Given the description of an element on the screen output the (x, y) to click on. 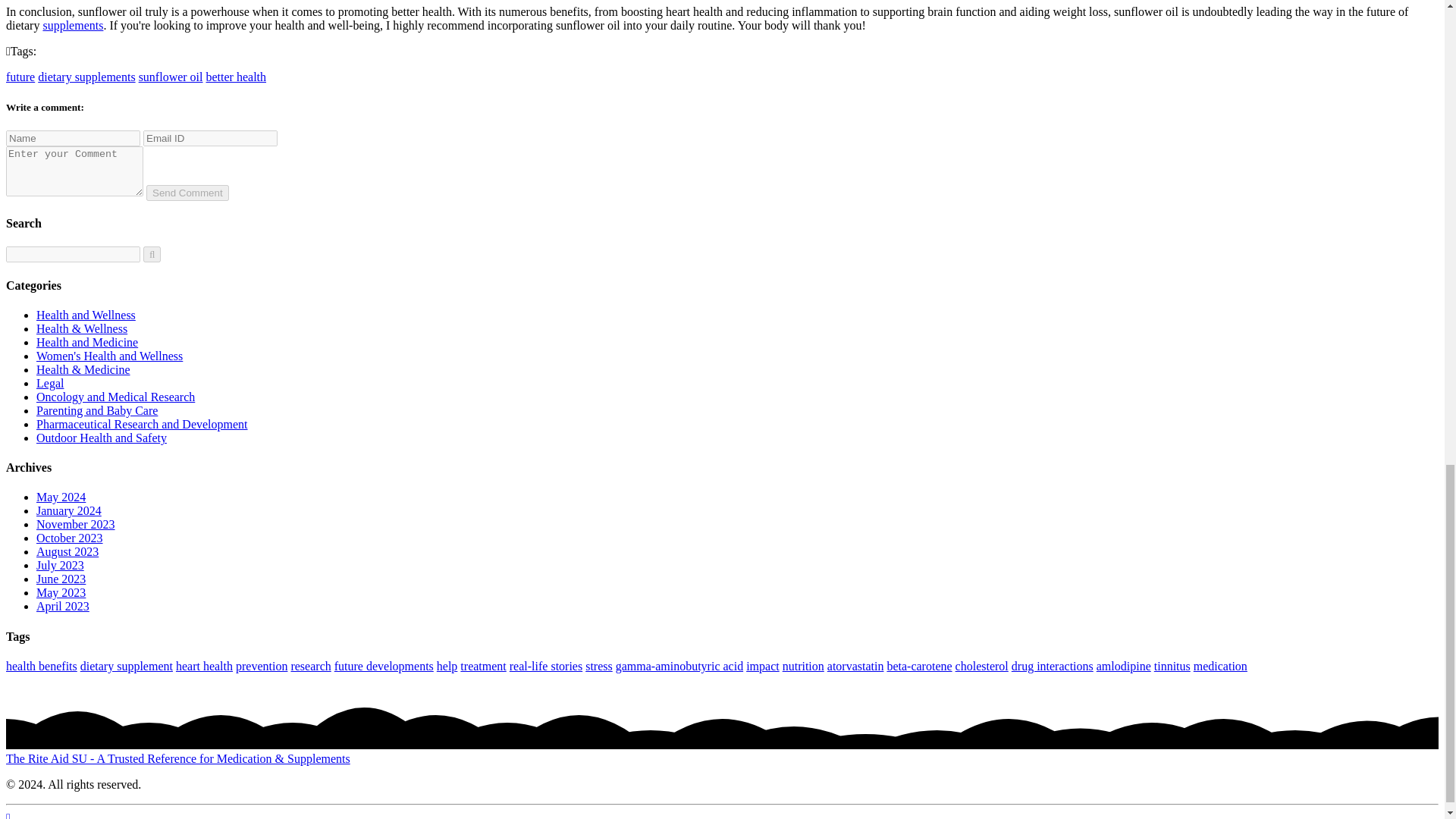
Oncology and Medical Research (115, 396)
dietary supplements (86, 76)
supplements (72, 24)
January 2024 (68, 510)
future (19, 76)
October 2023 (69, 537)
better health (236, 76)
May 2023 (60, 592)
August 2023 (67, 551)
April 2023 (62, 605)
